Given the description of an element on the screen output the (x, y) to click on. 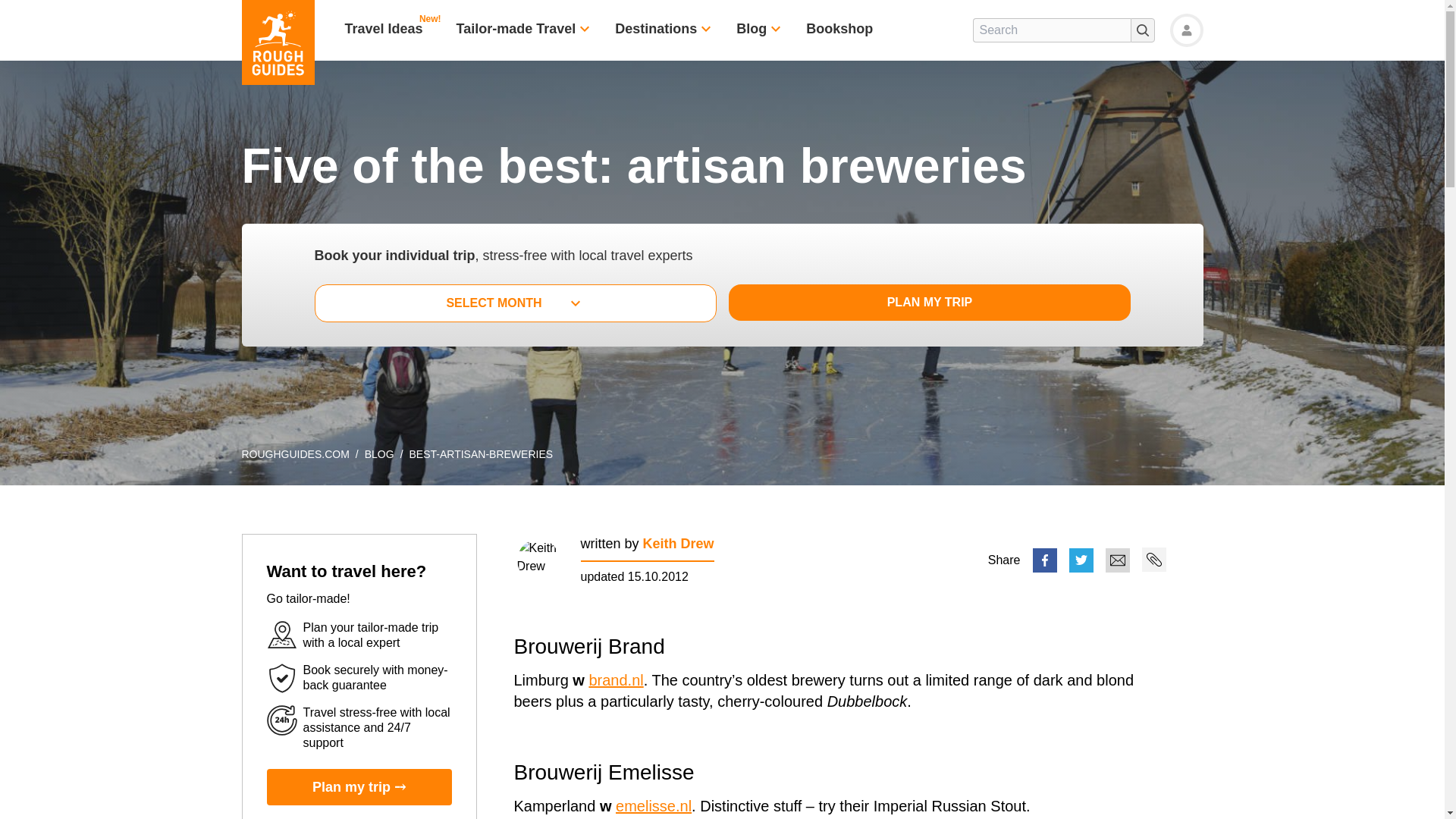
Destinations (655, 29)
BLOG (379, 454)
brand.nl (615, 679)
Bookshop (839, 29)
Travel Ideas (382, 29)
emelisse.nl (653, 805)
PLAN MY TRIP (924, 301)
Keith Drew (678, 543)
Tailor-made Travel (516, 29)
ROUGHGUIDES.COM (295, 454)
